Given the description of an element on the screen output the (x, y) to click on. 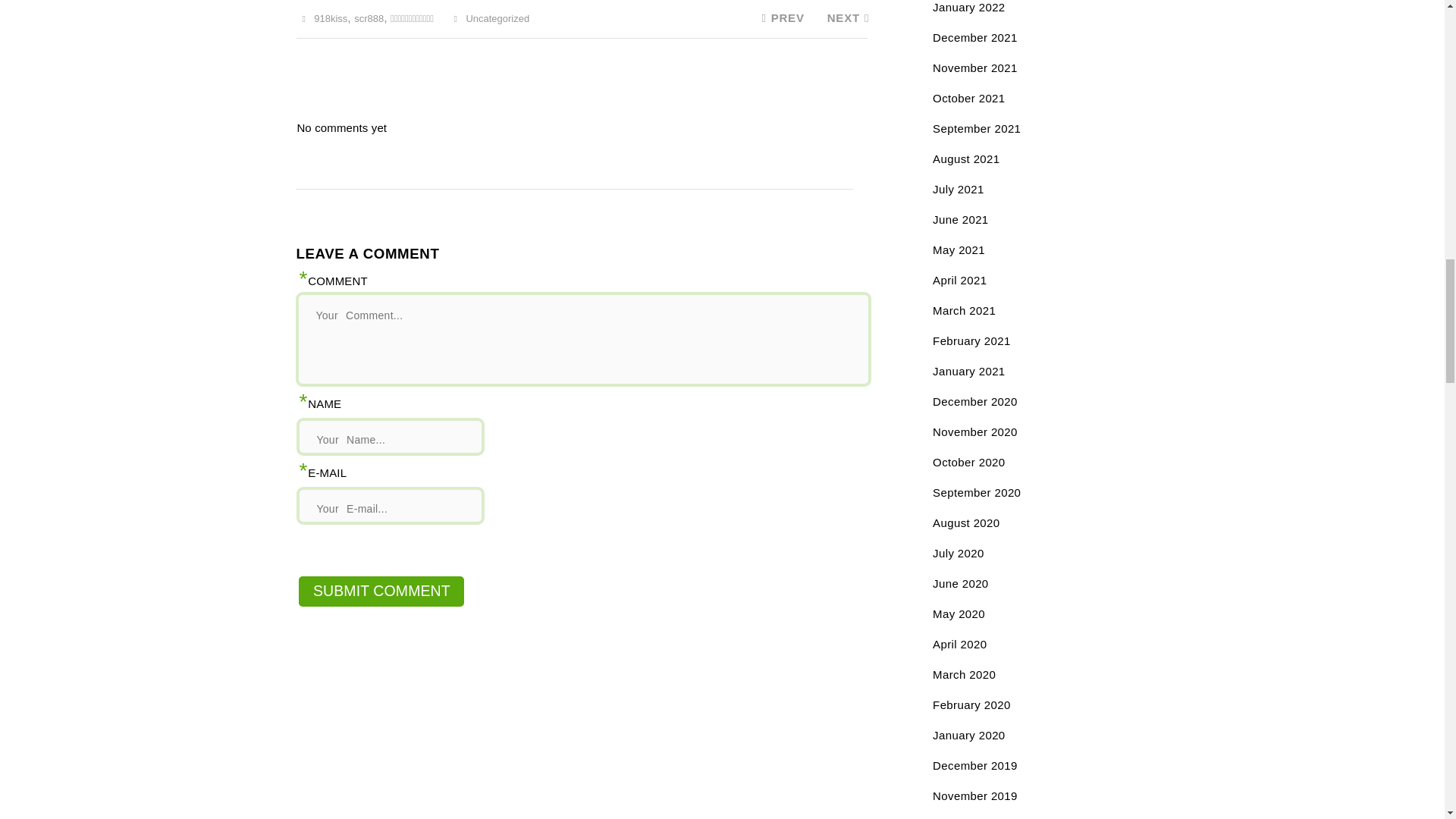
submit comment (381, 591)
submit comment (381, 591)
Uncategorized (497, 18)
NEXT (848, 17)
918kiss (330, 18)
PREV (780, 17)
scr888 (368, 18)
